Given the description of an element on the screen output the (x, y) to click on. 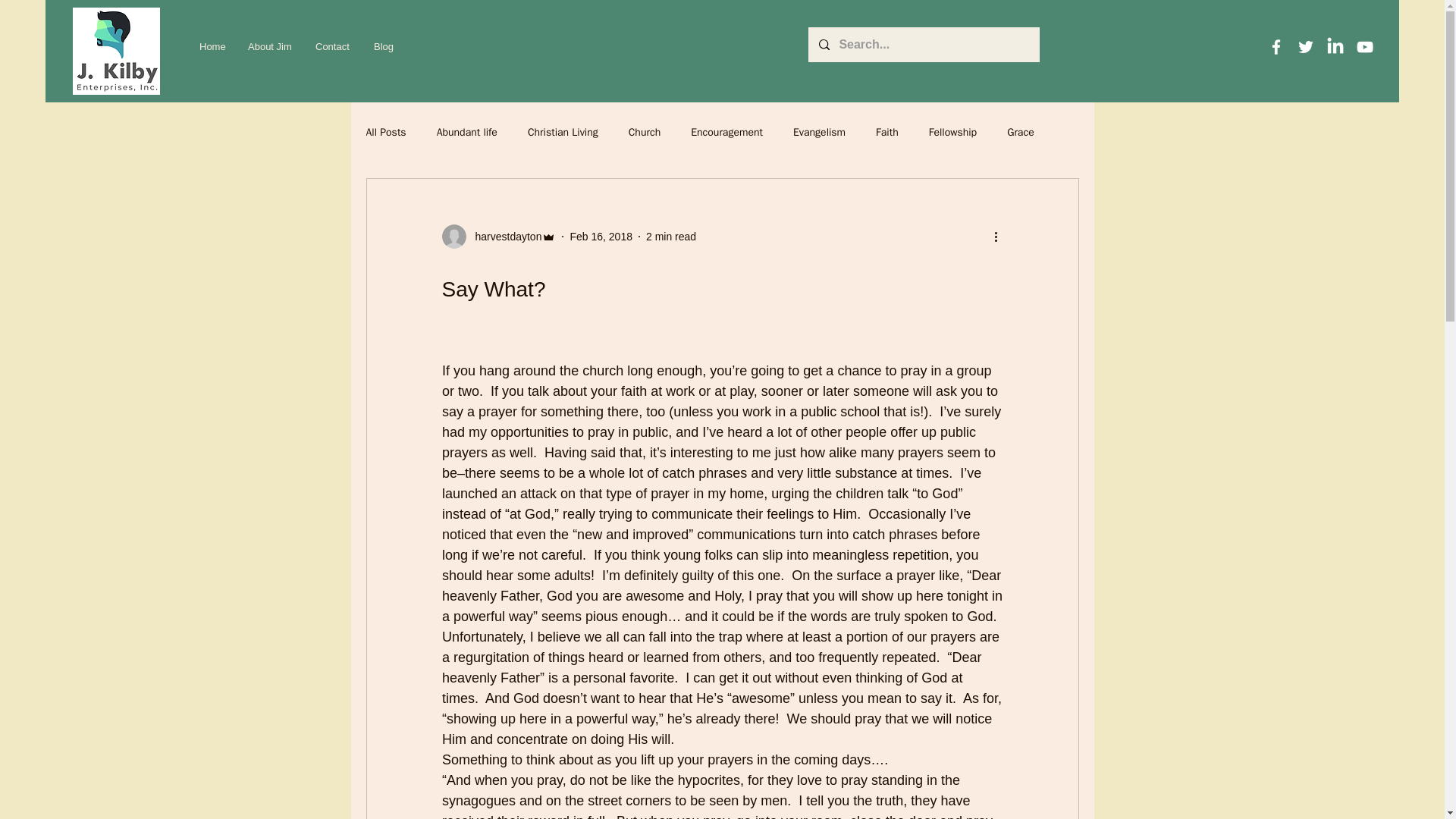
2 min read (670, 236)
Encouragement (726, 132)
harvestdayton (498, 236)
All Posts (385, 132)
harvestdayton (503, 236)
Abundant life (466, 132)
Faith (887, 132)
Grace (1020, 132)
Fellowship (952, 132)
Christian Living (562, 132)
